Given the description of an element on the screen output the (x, y) to click on. 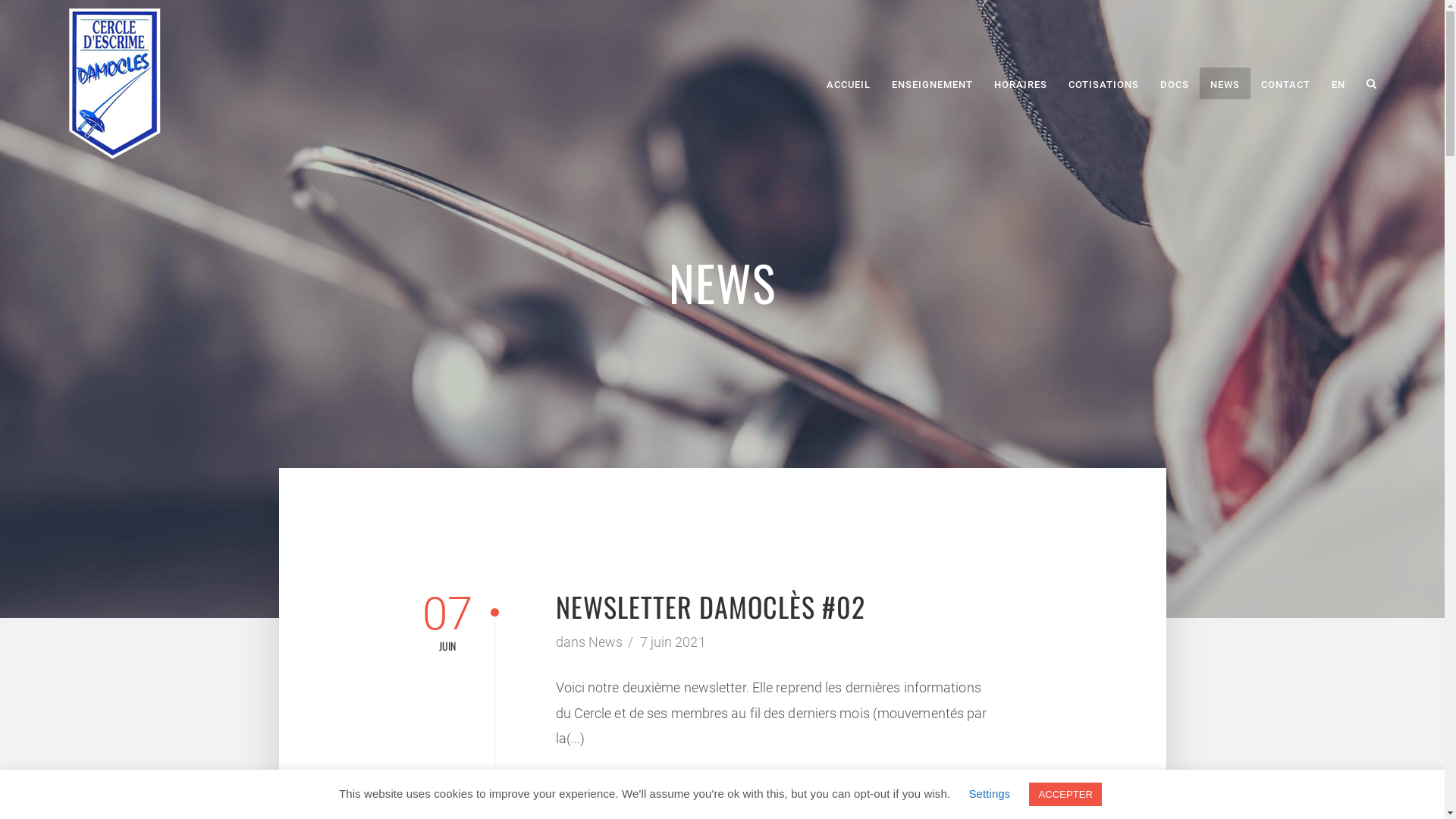
ACCUEIL Element type: text (848, 83)
Settings Element type: text (989, 793)
CONTACT Element type: text (1285, 83)
ACCEPTER Element type: text (1065, 794)
COTISATIONS Element type: text (1103, 83)
News Element type: text (605, 642)
NEWS Element type: text (1224, 83)
HORAIRES Element type: text (1020, 83)
EN Element type: text (1338, 83)
DOCS Element type: text (1174, 83)
LIRE PLUS Element type: text (615, 790)
ENSEIGNEMENT Element type: text (932, 83)
